Given the description of an element on the screen output the (x, y) to click on. 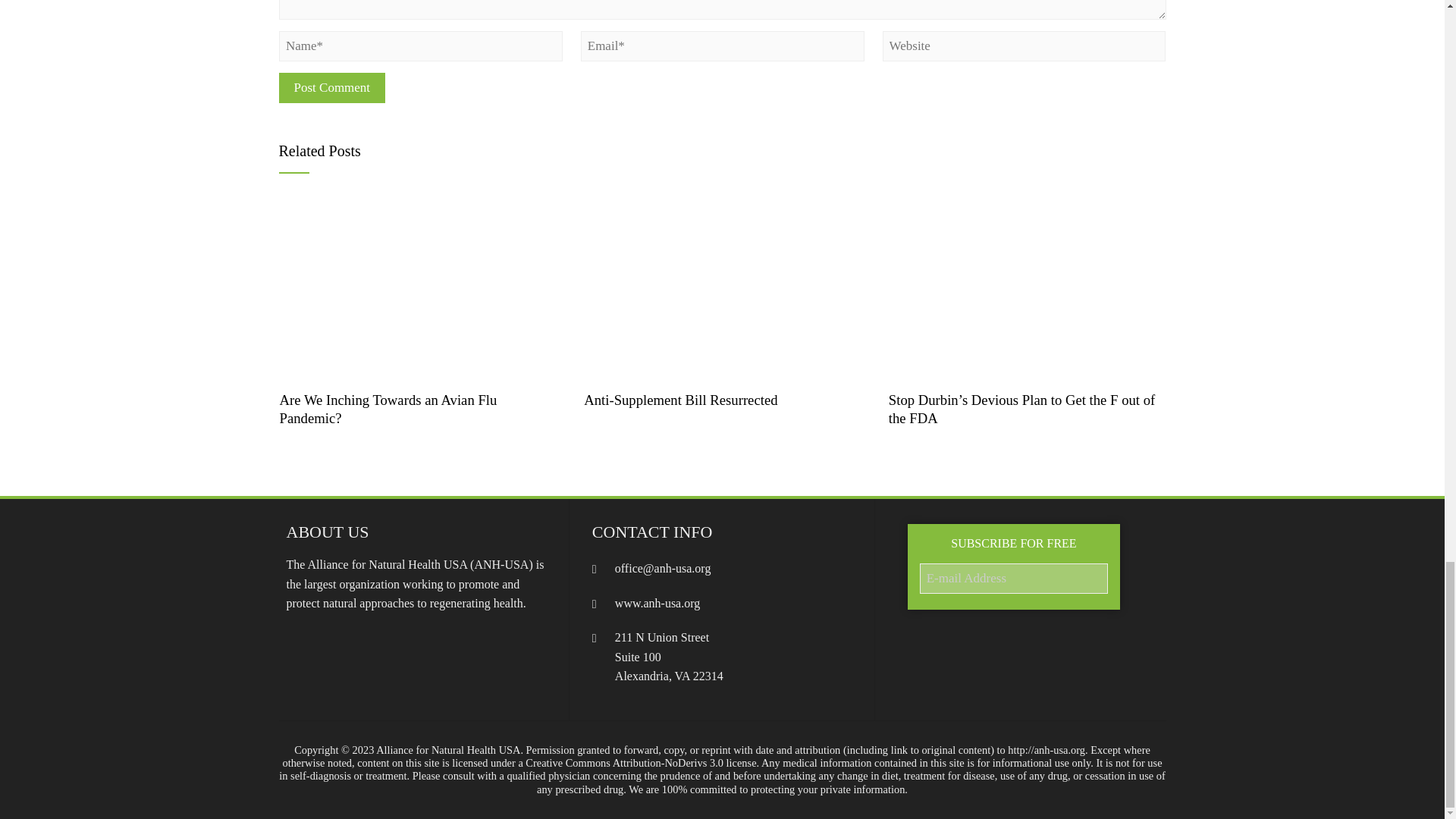
Post Comment (332, 87)
Anti-Supplement Bill Resurrected (722, 286)
Are We Inching Towards an Avian Flu Pandemic? (388, 408)
Are We Inching Towards an Avian Flu Pandemic? (418, 286)
Anti-Supplement Bill Resurrected (680, 399)
